Given the description of an element on the screen output the (x, y) to click on. 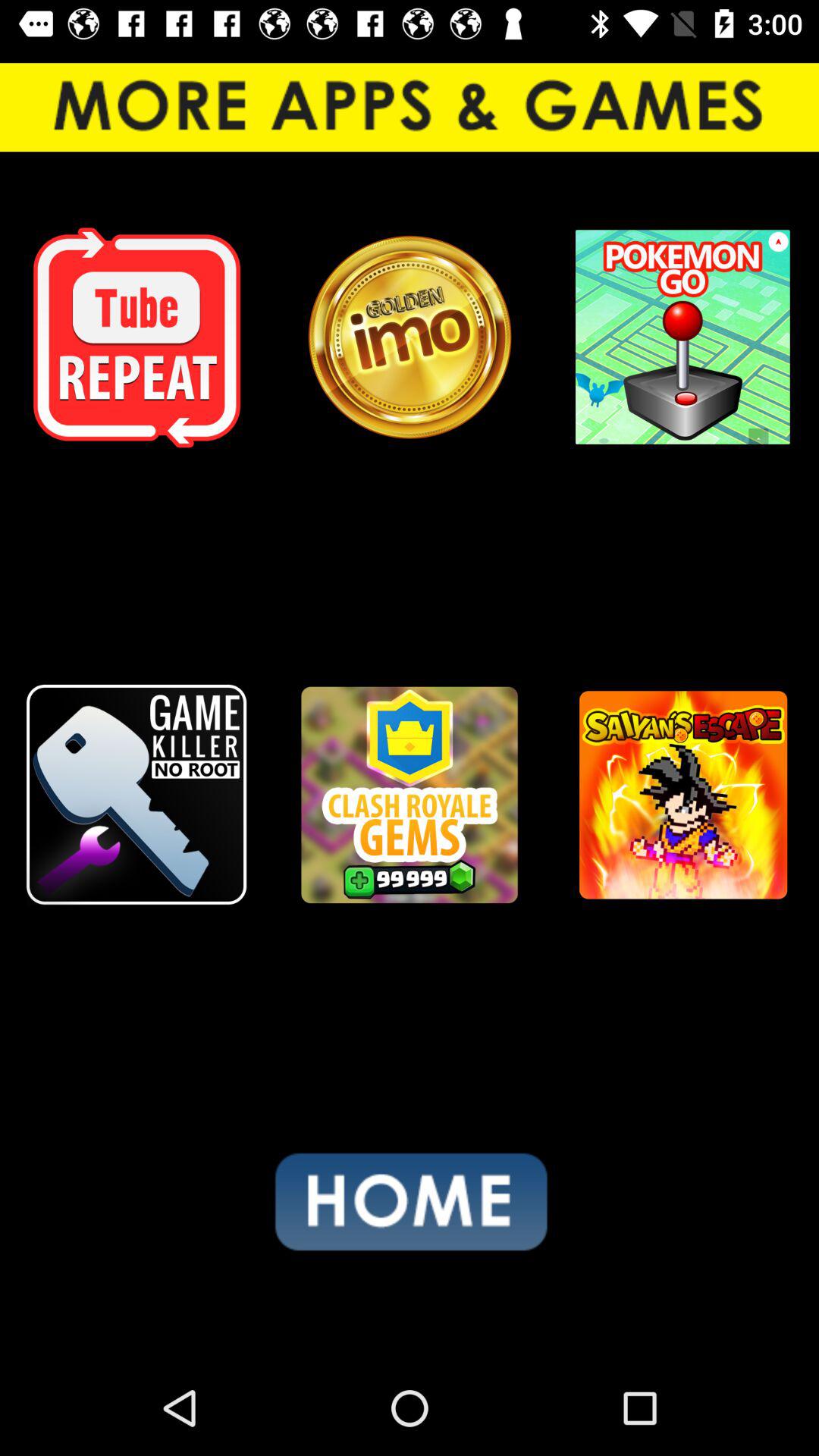
select the icon on the left (136, 794)
